Given the description of an element on the screen output the (x, y) to click on. 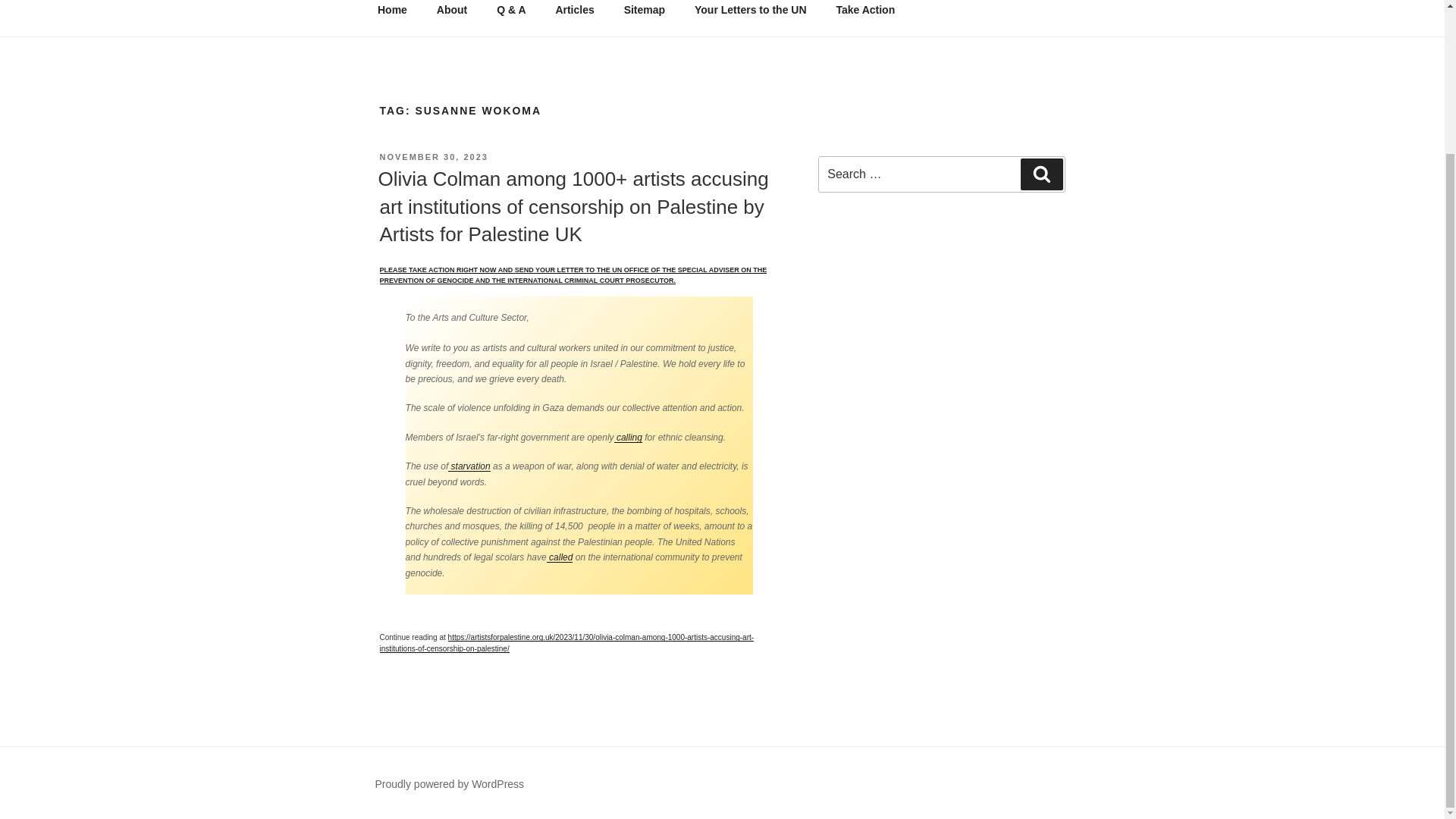
Search (1041, 174)
Your Letters to the UN (750, 13)
 starvation (468, 466)
Home (392, 13)
 called (560, 557)
Take Action (865, 13)
About (451, 13)
Sitemap (644, 13)
Articles (574, 13)
NOVEMBER 30, 2023 (432, 156)
Proudly powered by WordPress (449, 784)
 calling (628, 437)
